Given the description of an element on the screen output the (x, y) to click on. 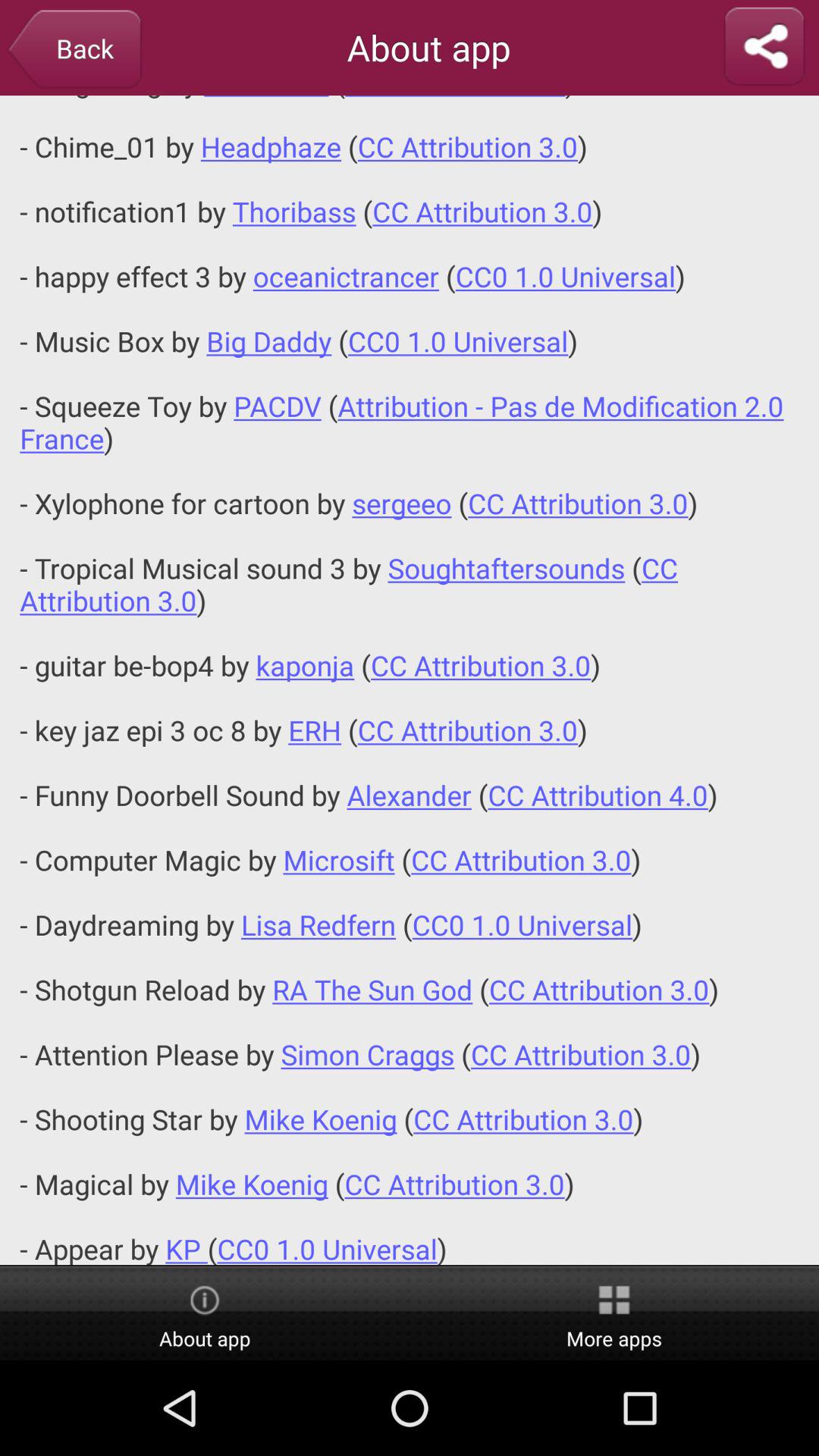
press item above the desk bell sound icon (73, 50)
